Given the description of an element on the screen output the (x, y) to click on. 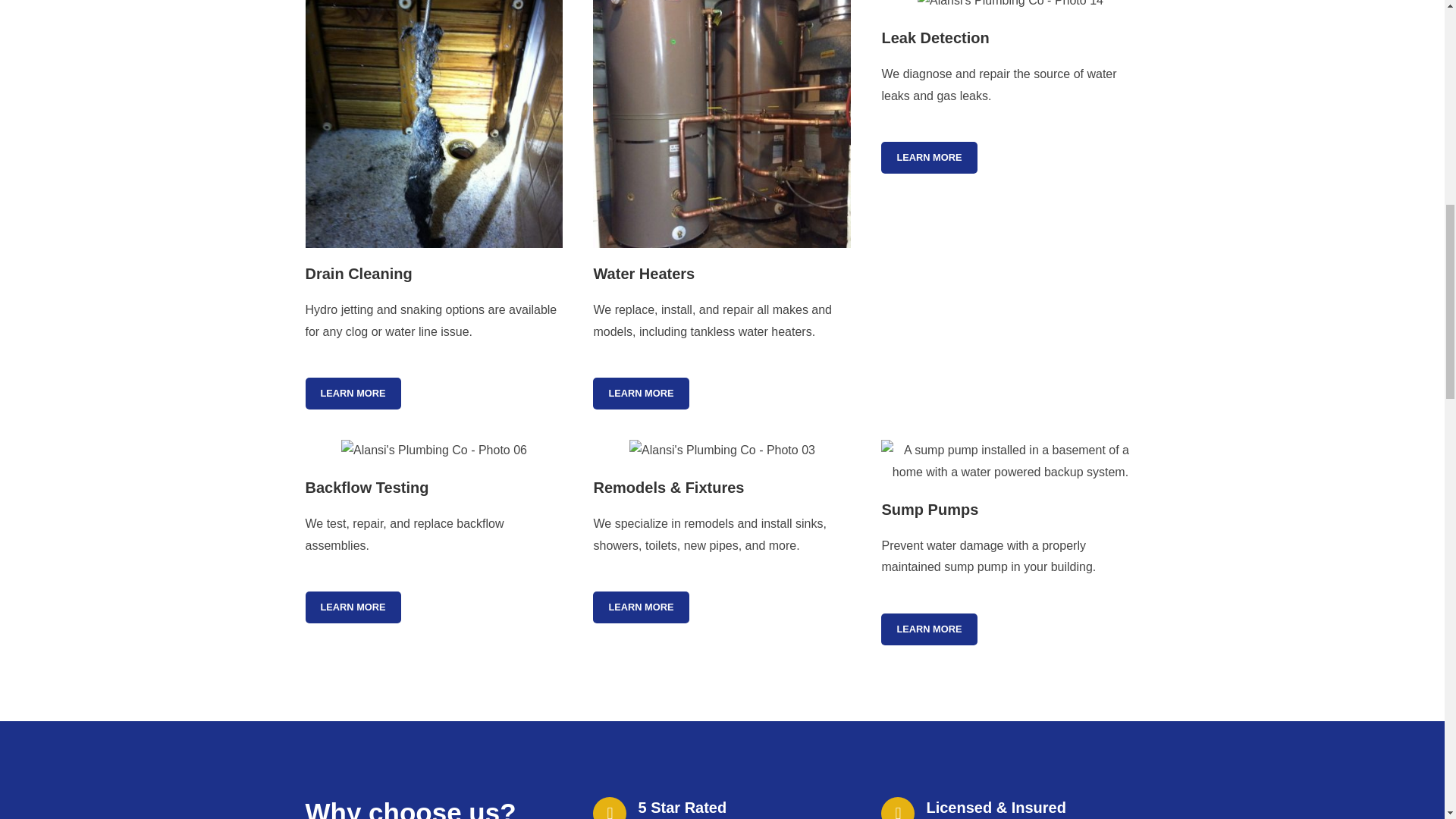
LEARN MORE (928, 157)
LEARN MORE (928, 629)
Backup Sump Pump (1009, 461)
LEARN MORE (640, 607)
LEARN MORE (352, 393)
LEARN MORE (352, 607)
LEARN MORE (640, 393)
